Given the description of an element on the screen output the (x, y) to click on. 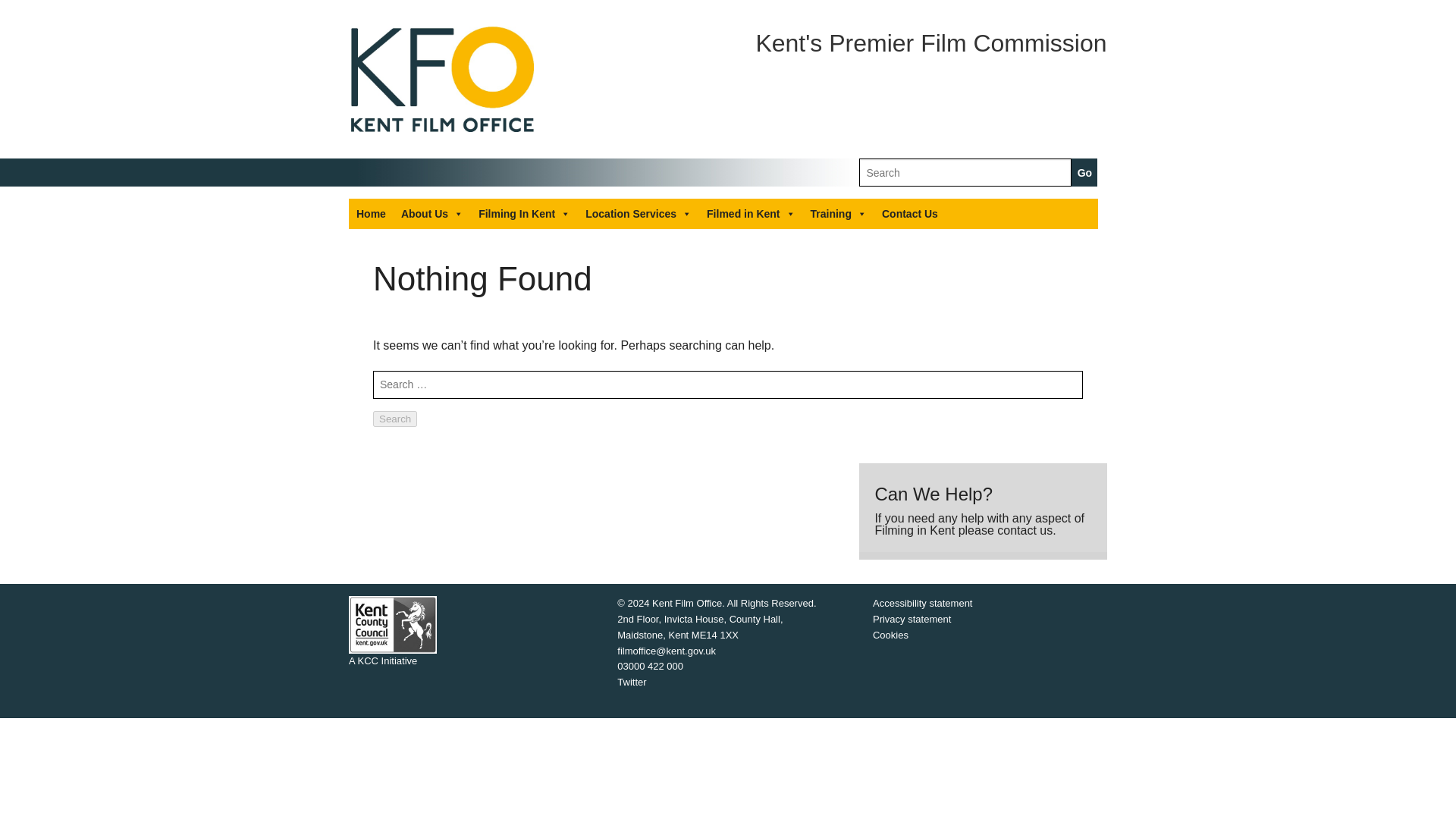
Search (394, 418)
Twitter (631, 681)
Search (394, 418)
Location Services (638, 214)
Accessibility statement (922, 603)
Search (394, 418)
Go (1084, 172)
Cookies (890, 634)
Filming In Kent (524, 214)
03000 422 000 (649, 665)
